Given the description of an element on the screen output the (x, y) to click on. 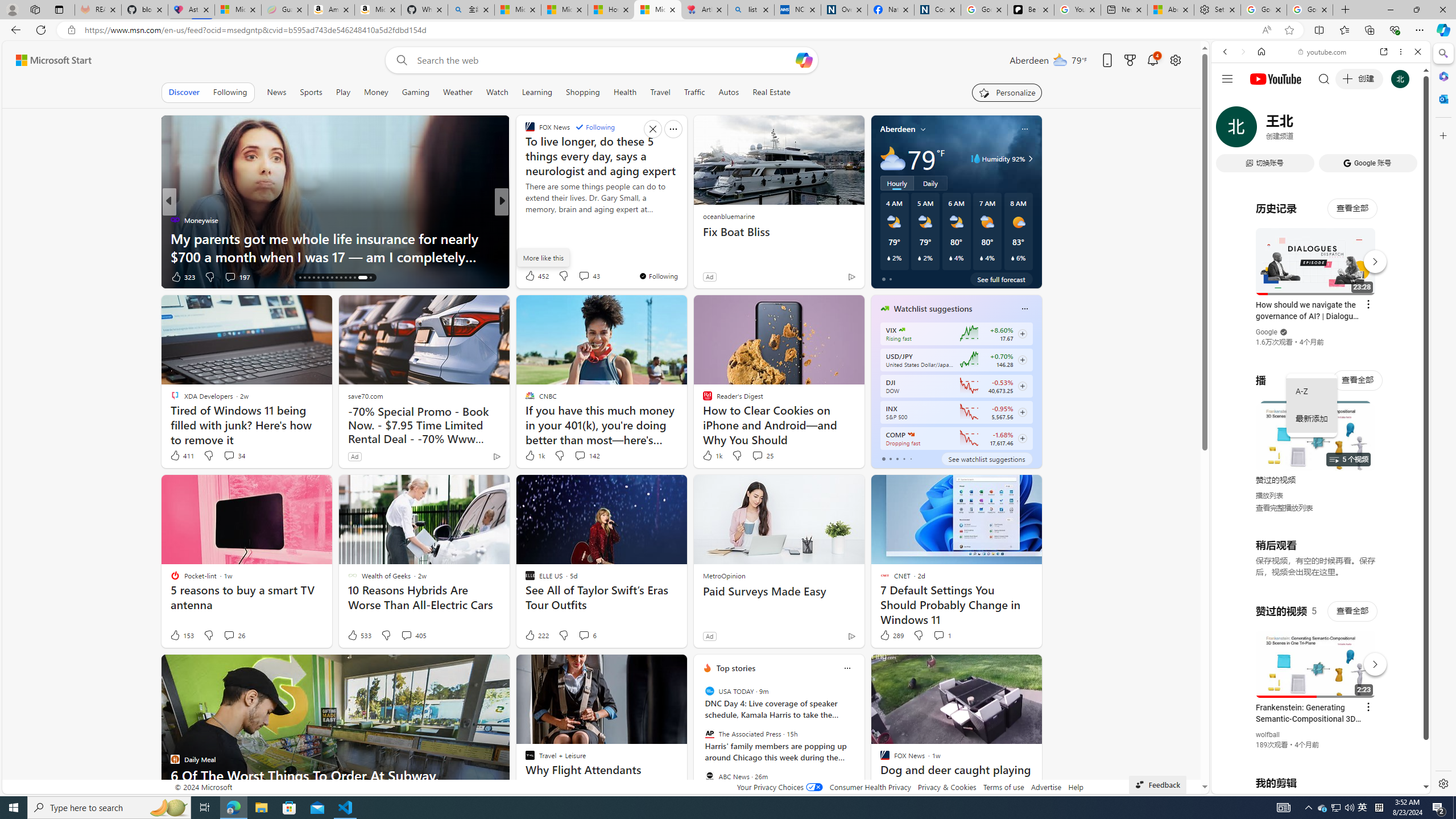
Health (624, 92)
Traffic (694, 92)
View comments 34 Comment (228, 455)
tab-2 (897, 458)
Personalize your feed" (1007, 92)
list of asthma inhalers uk - Search (750, 9)
